Given the description of an element on the screen output the (x, y) to click on. 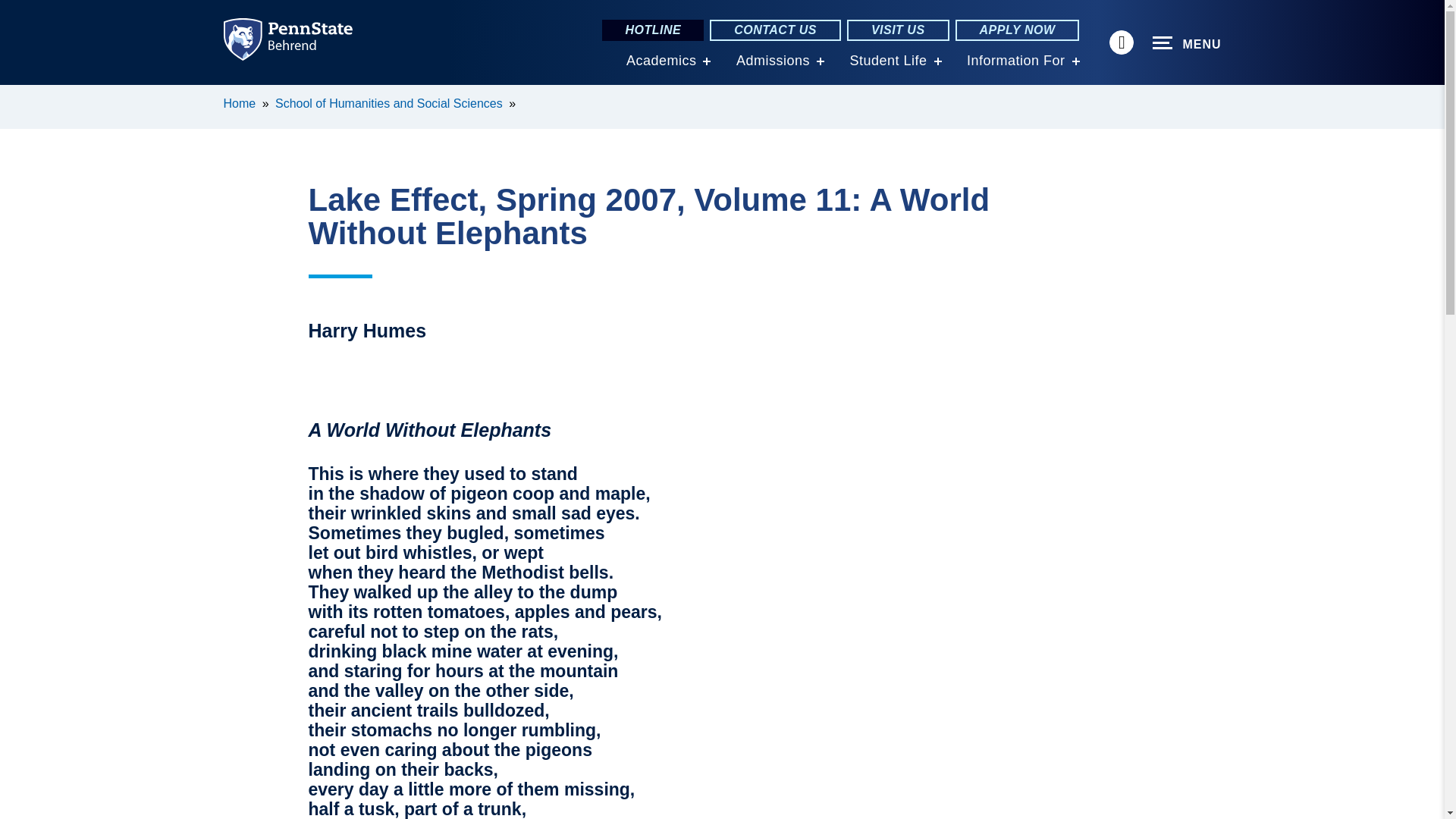
HOTLINE (652, 29)
APPLY NOW (1017, 29)
VISIT US (898, 29)
MENU (1187, 43)
SKIP TO MAIN CONTENT (19, 95)
Student Life (887, 60)
Academics (661, 60)
CONTACT US (775, 29)
Admissions (772, 60)
